Given the description of an element on the screen output the (x, y) to click on. 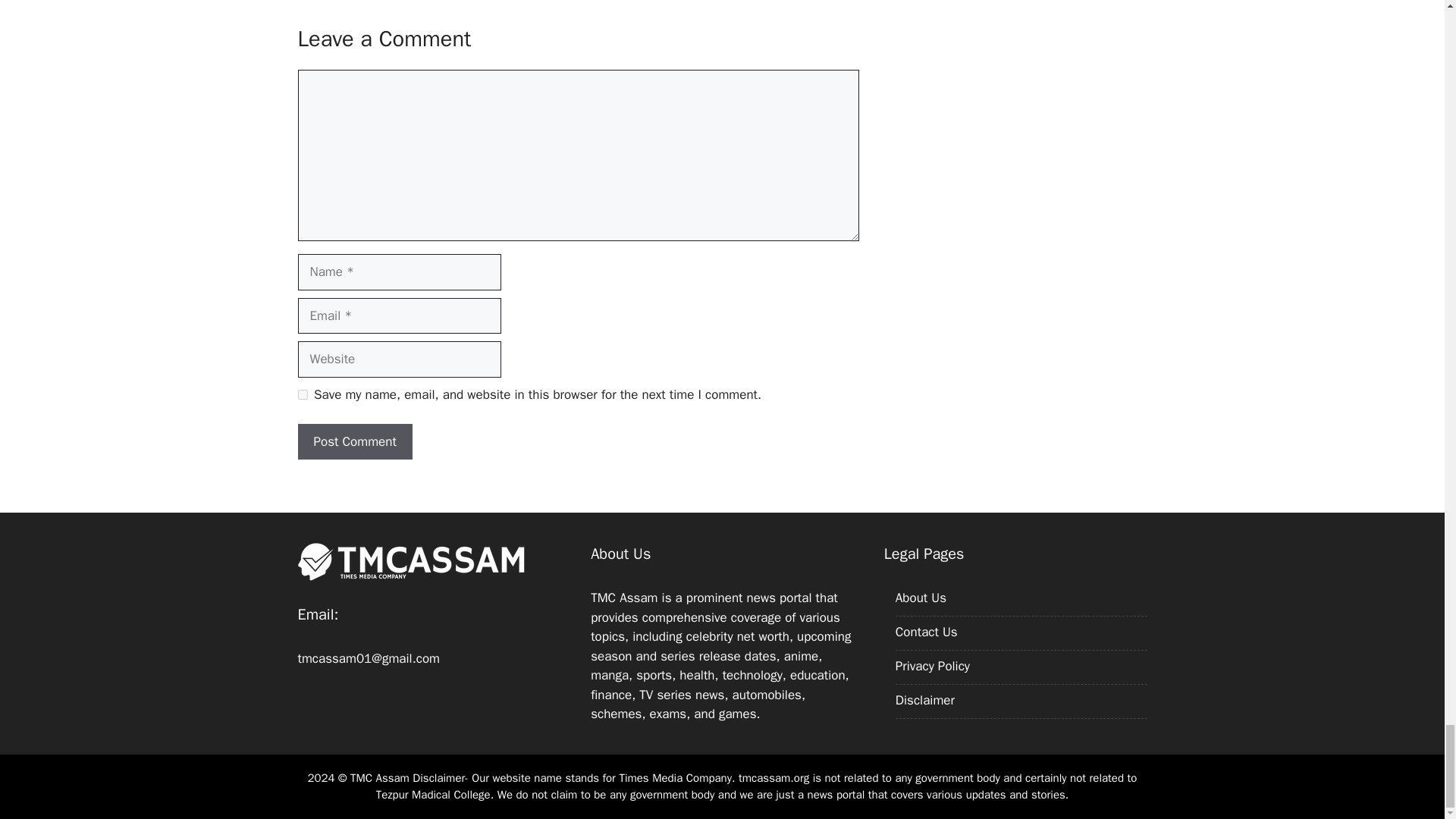
Post Comment (354, 442)
yes (302, 394)
Post Comment (354, 442)
